Given the description of an element on the screen output the (x, y) to click on. 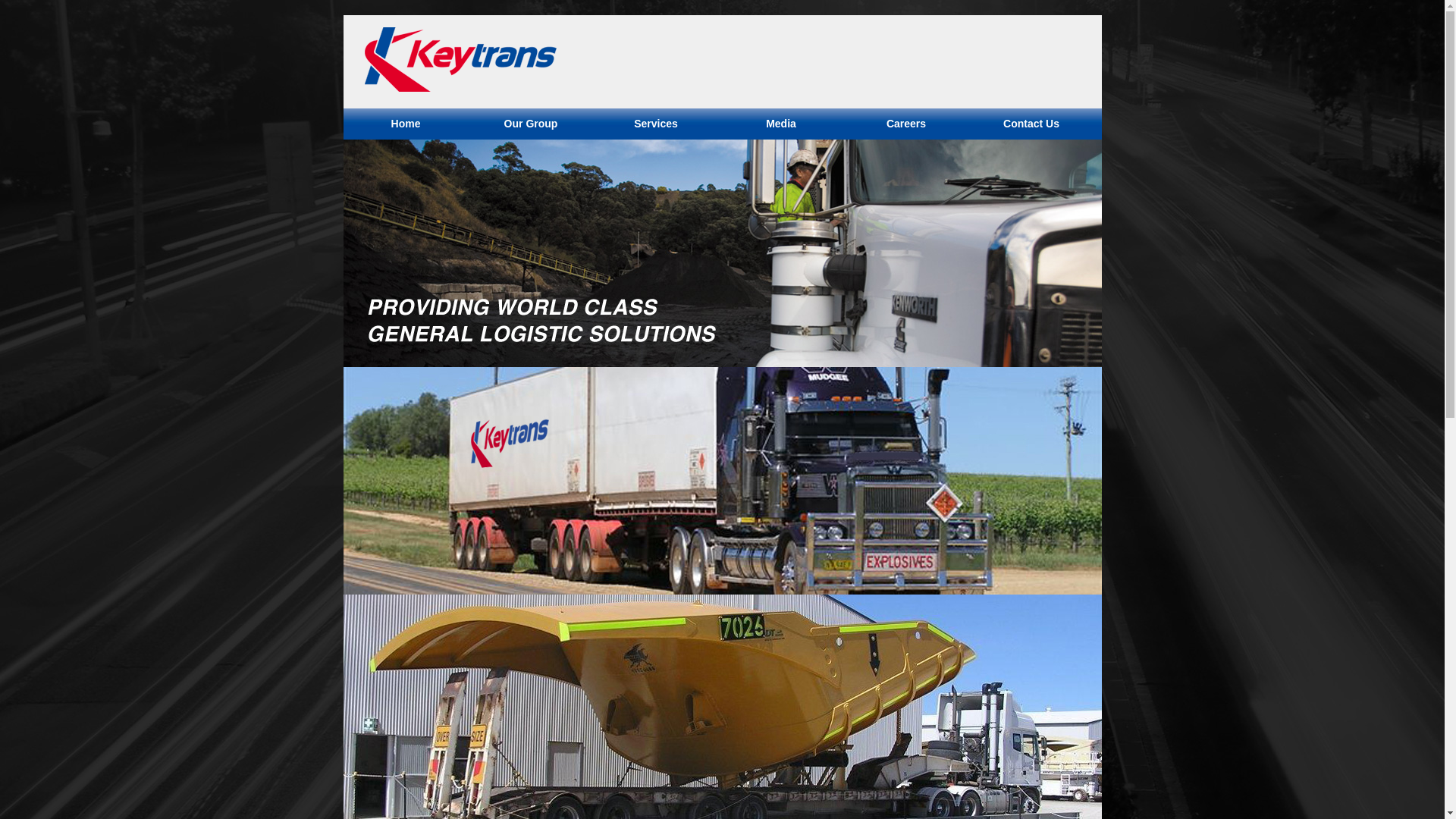
KeyTrans Element type: hover (721, 480)
Services Element type: text (655, 123)
Media Element type: text (781, 123)
KeyTrans Element type: hover (721, 253)
Home Element type: text (404, 123)
Careers Element type: text (905, 123)
Contact Us Element type: text (1031, 123)
Our Group Element type: text (530, 123)
